Given the description of an element on the screen output the (x, y) to click on. 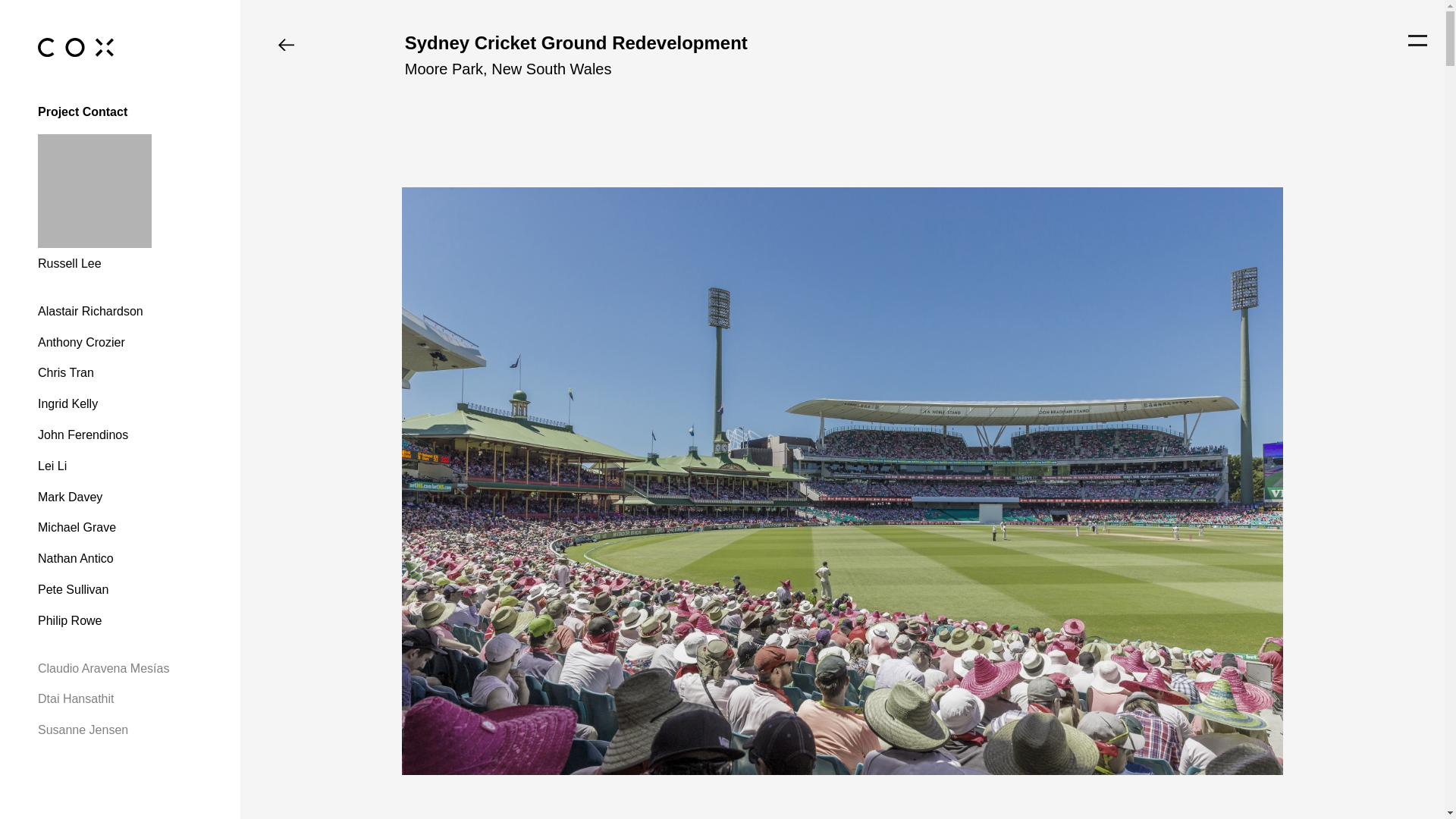
Philip Rowe (119, 621)
Michael Grave (119, 527)
John Ferendinos (119, 435)
Chris Tran (119, 373)
Ingrid Kelly (119, 404)
Mark Davey (119, 497)
Anthony Crozier (119, 342)
Pete Sullivan (119, 590)
Alastair Richardson (119, 311)
Russell Lee (119, 203)
